Given the description of an element on the screen output the (x, y) to click on. 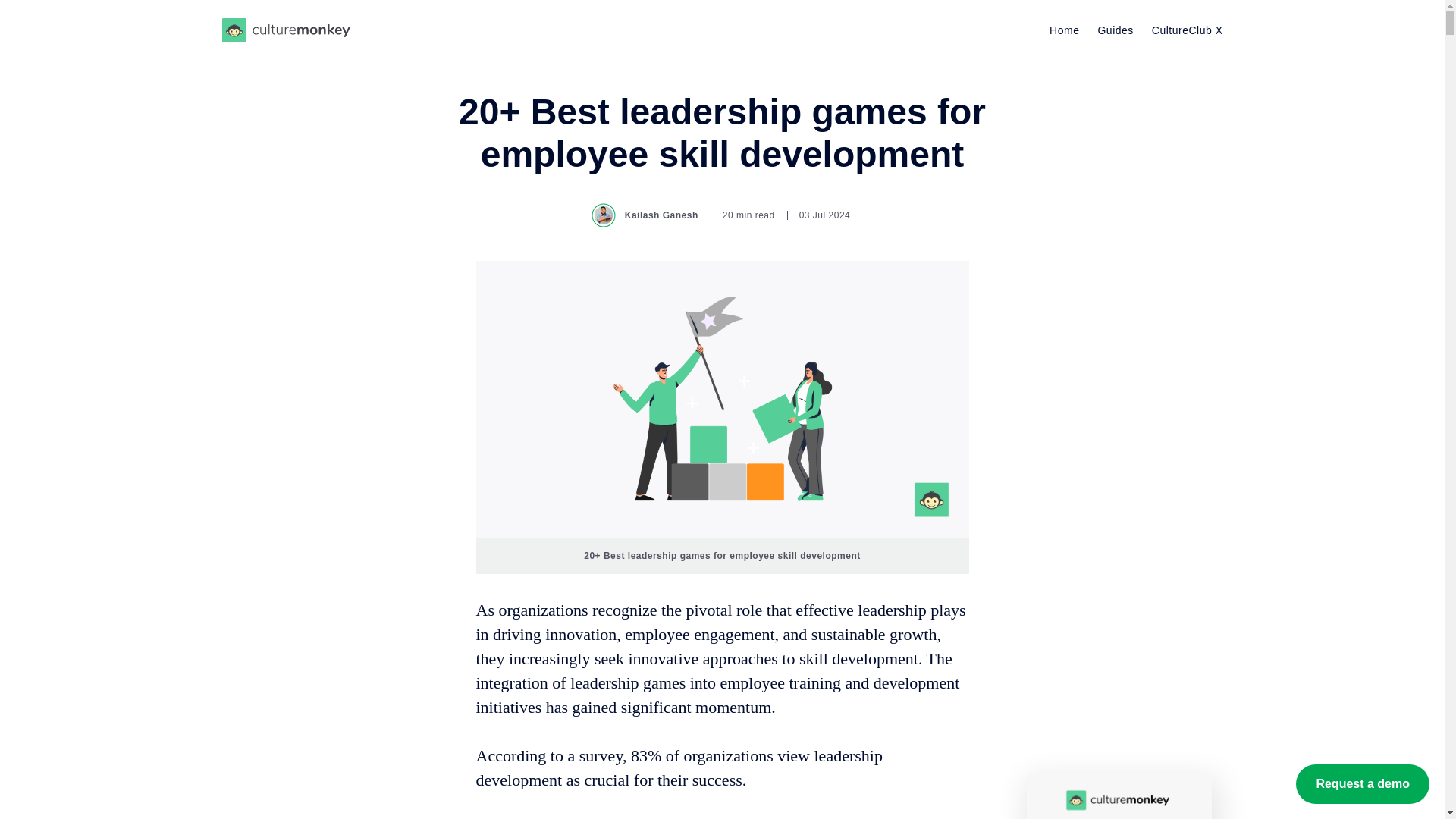
Kailash Ganesh (646, 215)
Guides (1114, 30)
CultureClub X (1187, 30)
Home (1063, 30)
